Given the description of an element on the screen output the (x, y) to click on. 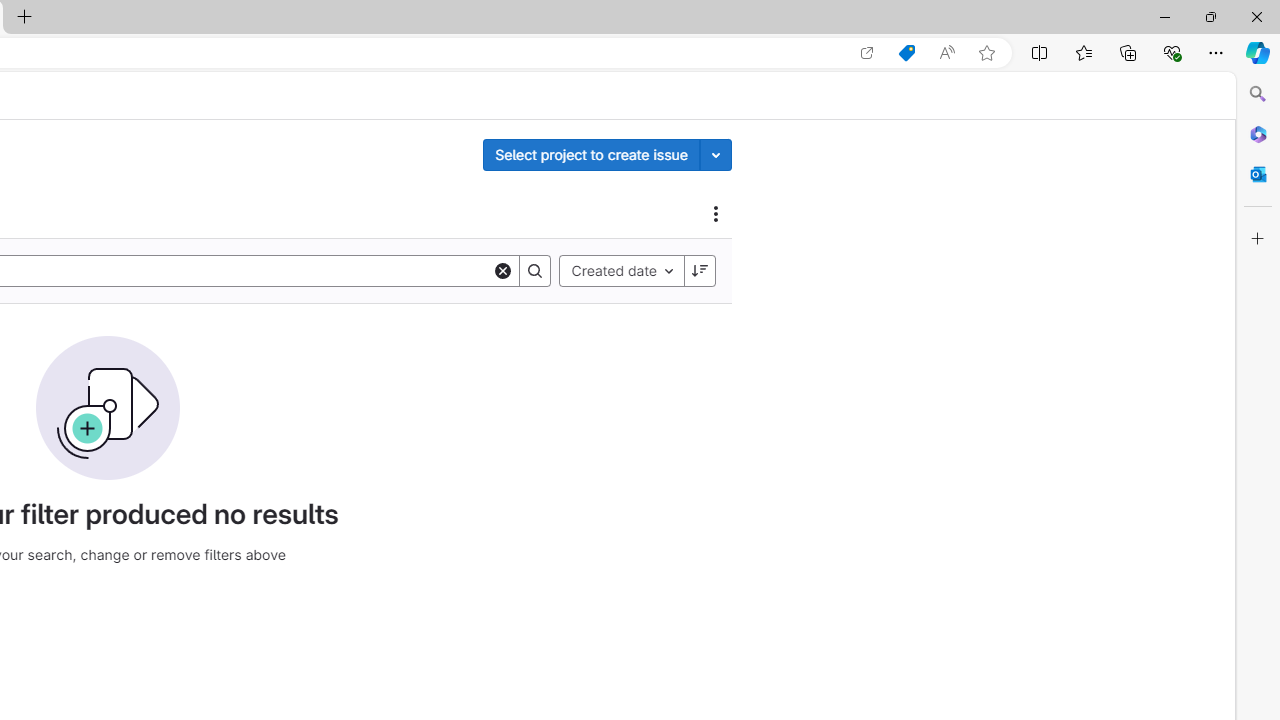
Clear (503, 269)
Select project to create issue (591, 154)
